Given the description of an element on the screen output the (x, y) to click on. 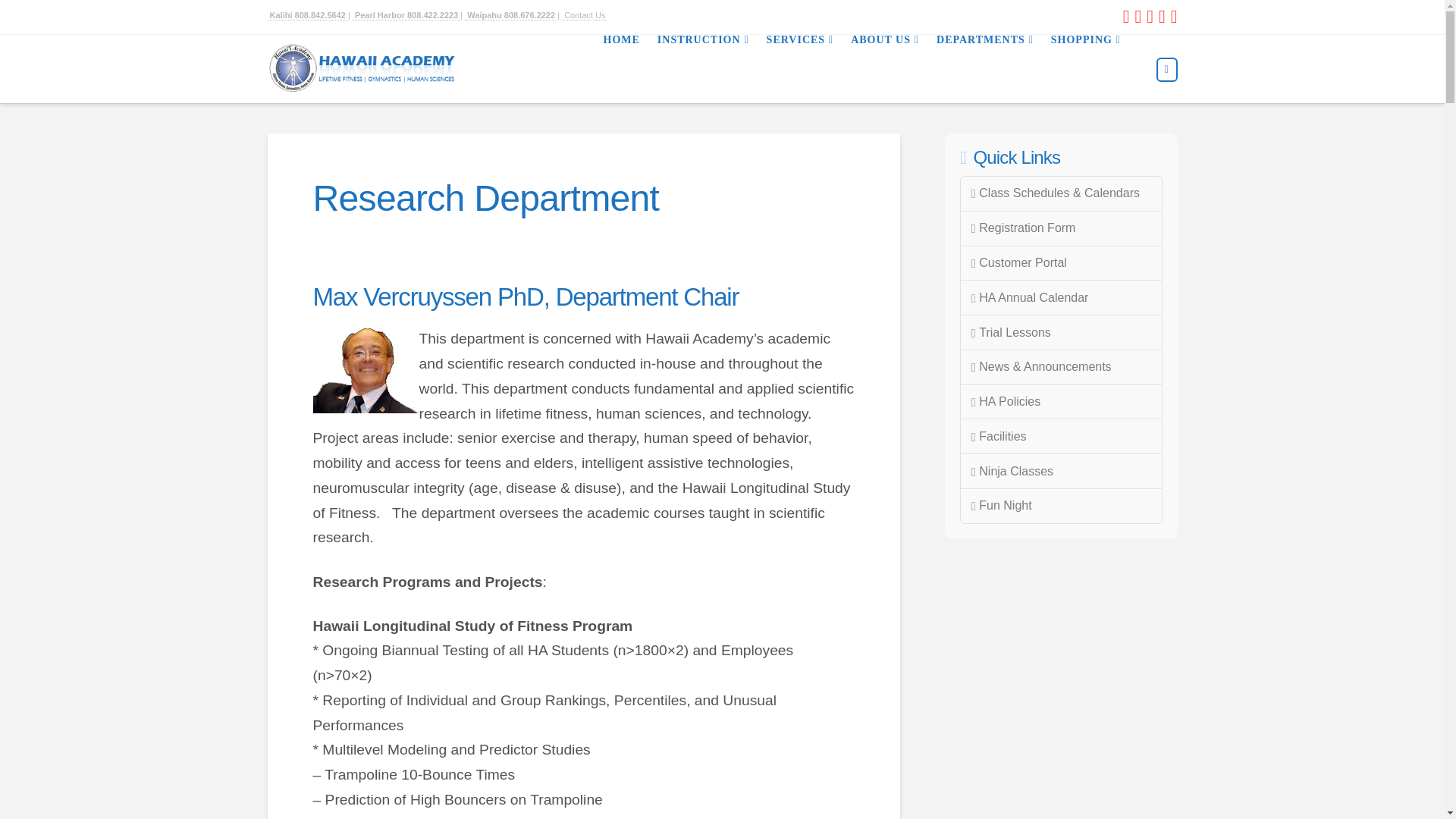
SERVICES (800, 69)
INSTRUCTION (702, 69)
Pearl Harbor 808.422.2223 (406, 15)
DEPARTMENTS (984, 69)
Waipahu 808.676.2222 (510, 15)
ABOUT US (884, 69)
Kalihi 808.842.5642 (306, 15)
Contact Us (582, 15)
